Given the description of an element on the screen output the (x, y) to click on. 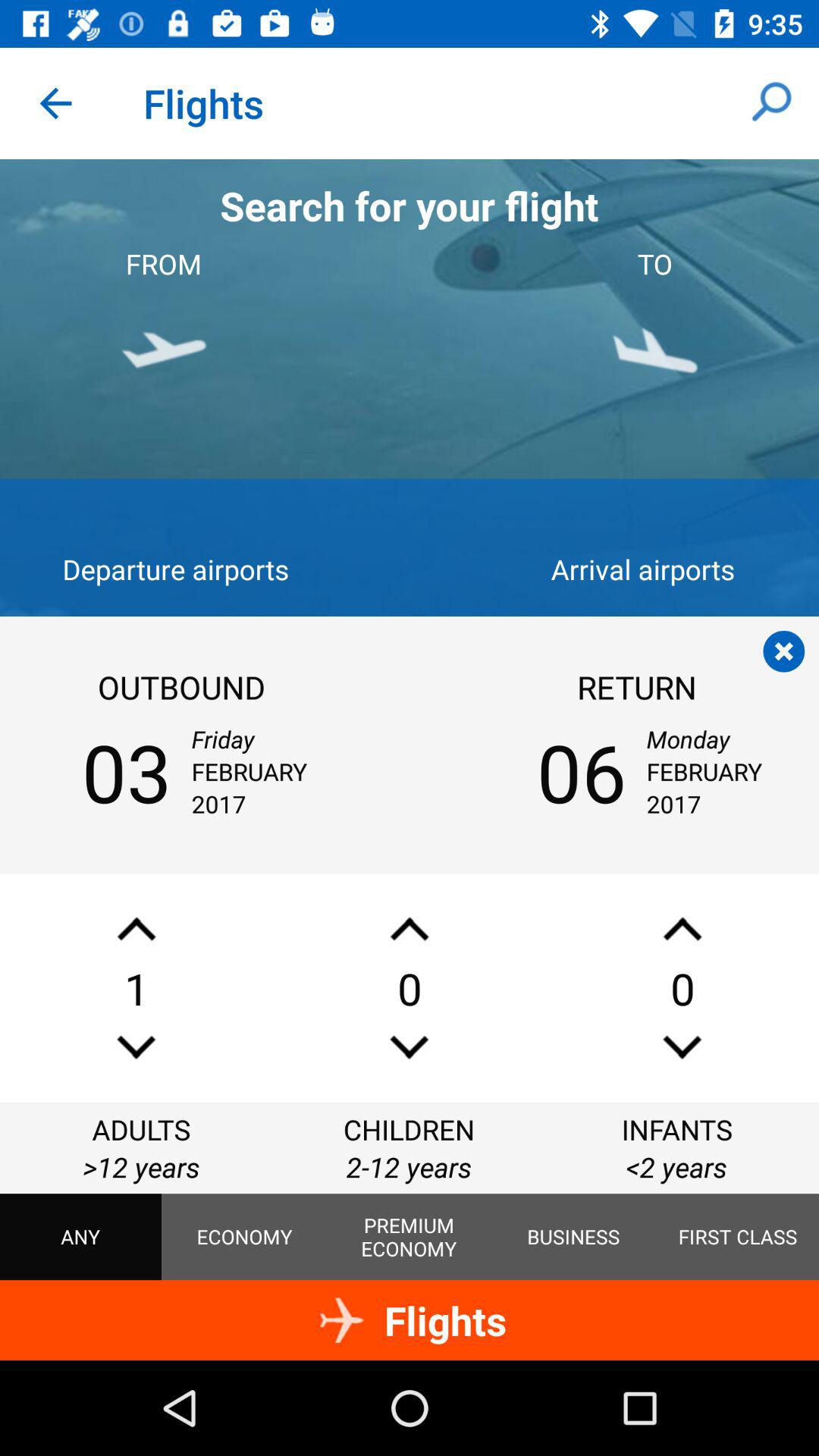
click to expand (136, 1047)
